Given the description of an element on the screen output the (x, y) to click on. 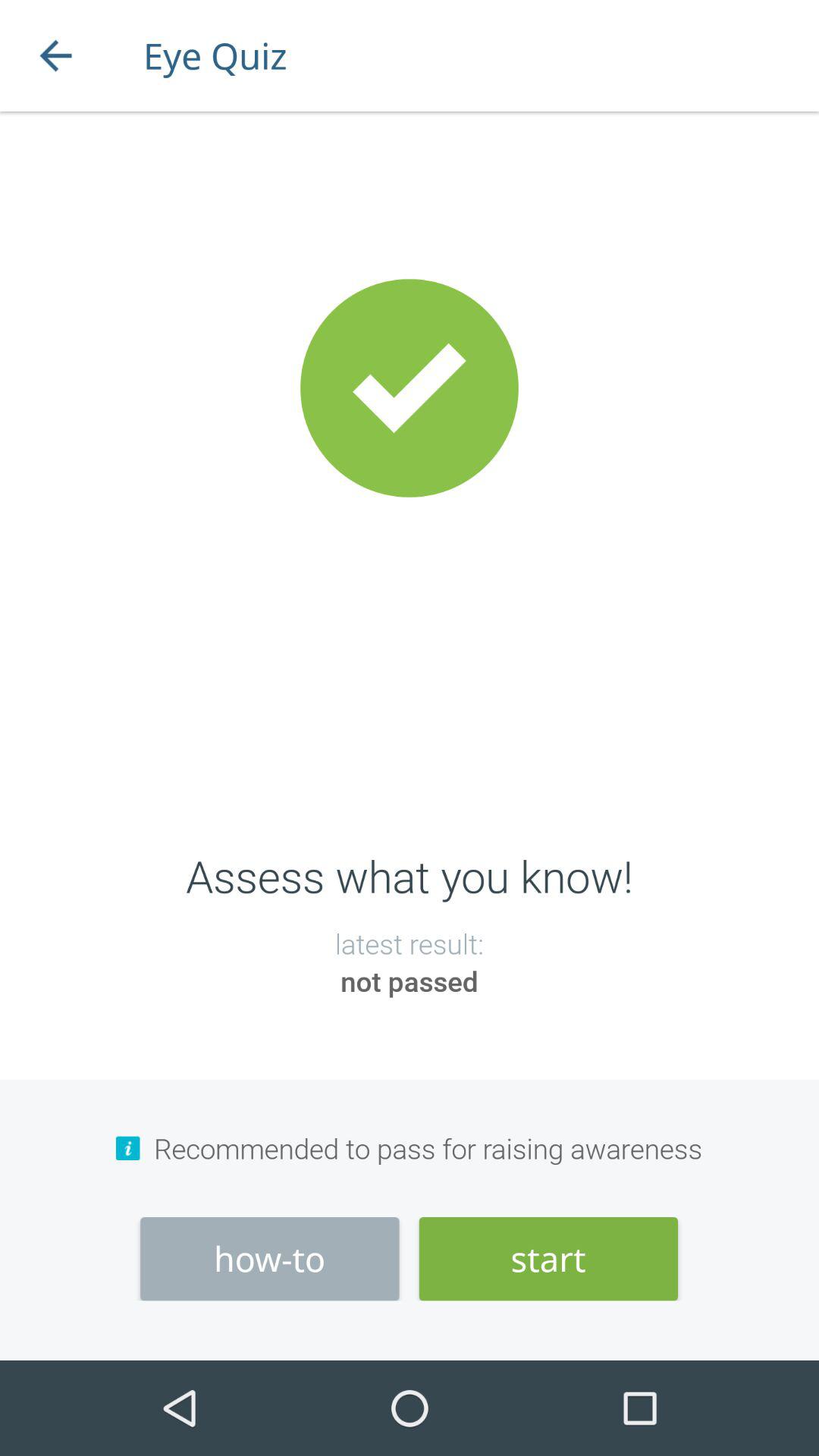
select the item next to start item (269, 1258)
